Given the description of an element on the screen output the (x, y) to click on. 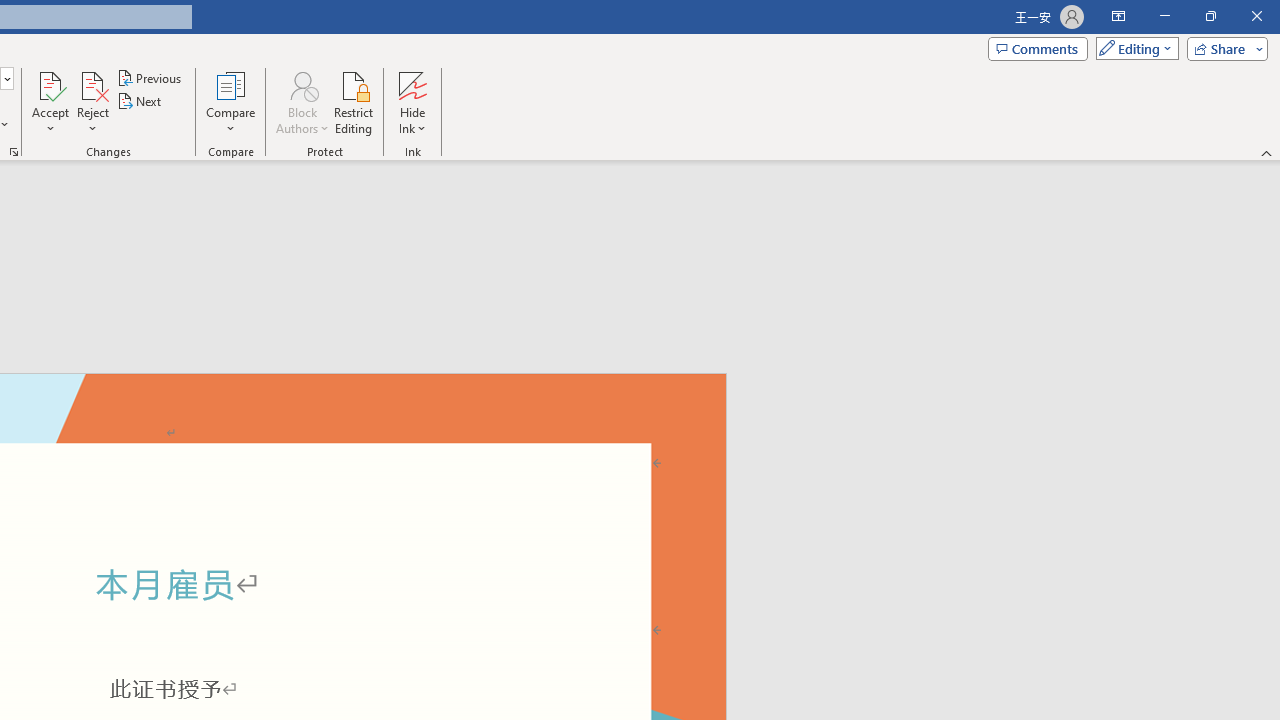
Share (1223, 48)
Open (6, 78)
Reject (92, 102)
Hide Ink (412, 84)
Previous (150, 78)
Ribbon Display Options (1118, 16)
Next (140, 101)
Comments (1038, 48)
Accept (50, 102)
Restore Down (1210, 16)
Block Authors (302, 84)
Change Tracking Options... (13, 151)
Close (1256, 16)
Hide Ink (412, 102)
